Given the description of an element on the screen output the (x, y) to click on. 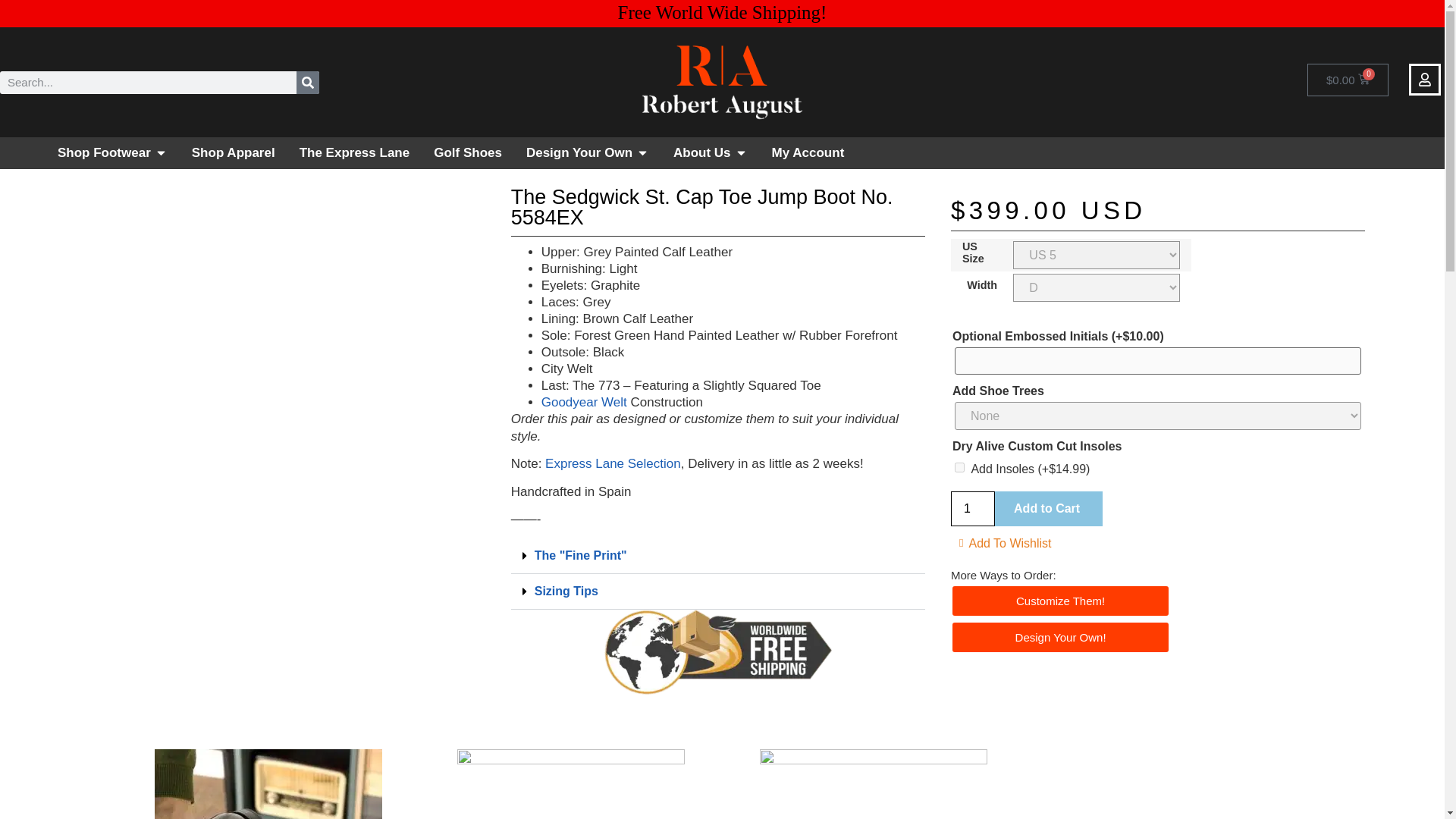
add-insoles (959, 467)
1 (972, 508)
Logo PNG (721, 82)
